Given the description of an element on the screen output the (x, y) to click on. 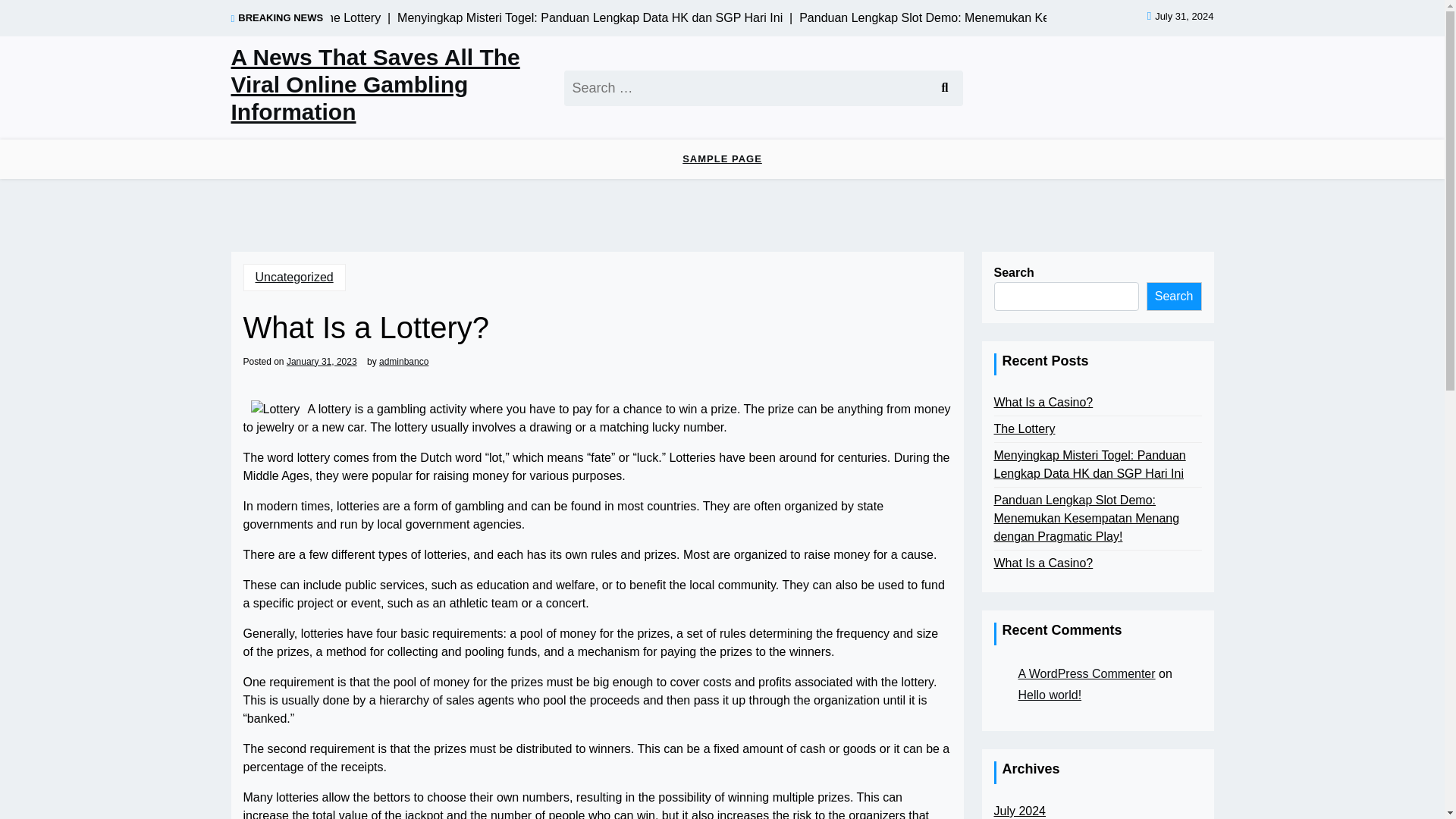
Search (943, 87)
July 2024 (1018, 810)
A News That Saves All The Viral Online Gambling Information (388, 85)
What Is a Casino? (1042, 402)
Uncategorized (294, 277)
adminbanco (403, 360)
Search (943, 87)
January 31, 2023 (321, 360)
